Given the description of an element on the screen output the (x, y) to click on. 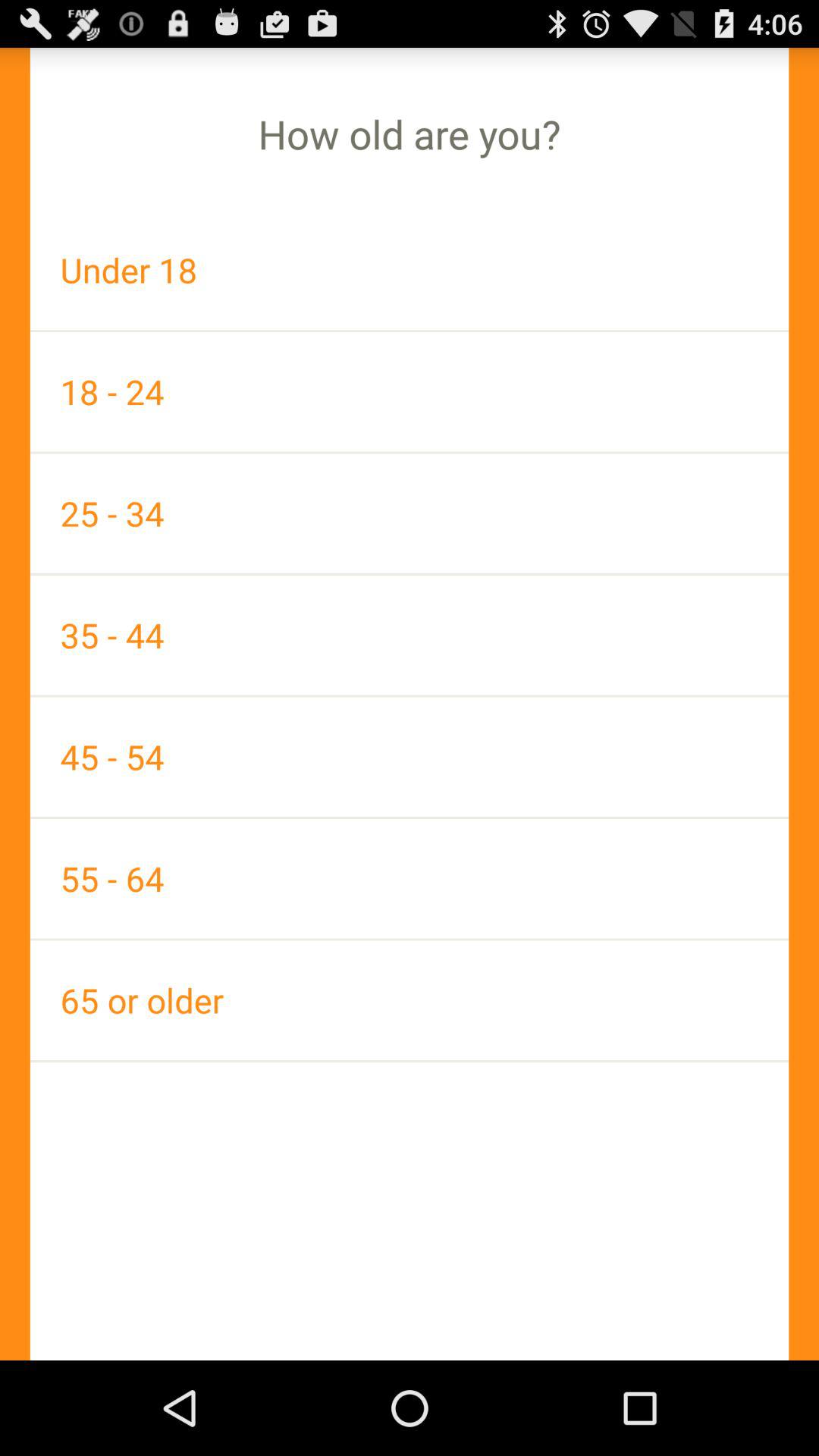
tap the 35 - 44 (409, 635)
